Given the description of an element on the screen output the (x, y) to click on. 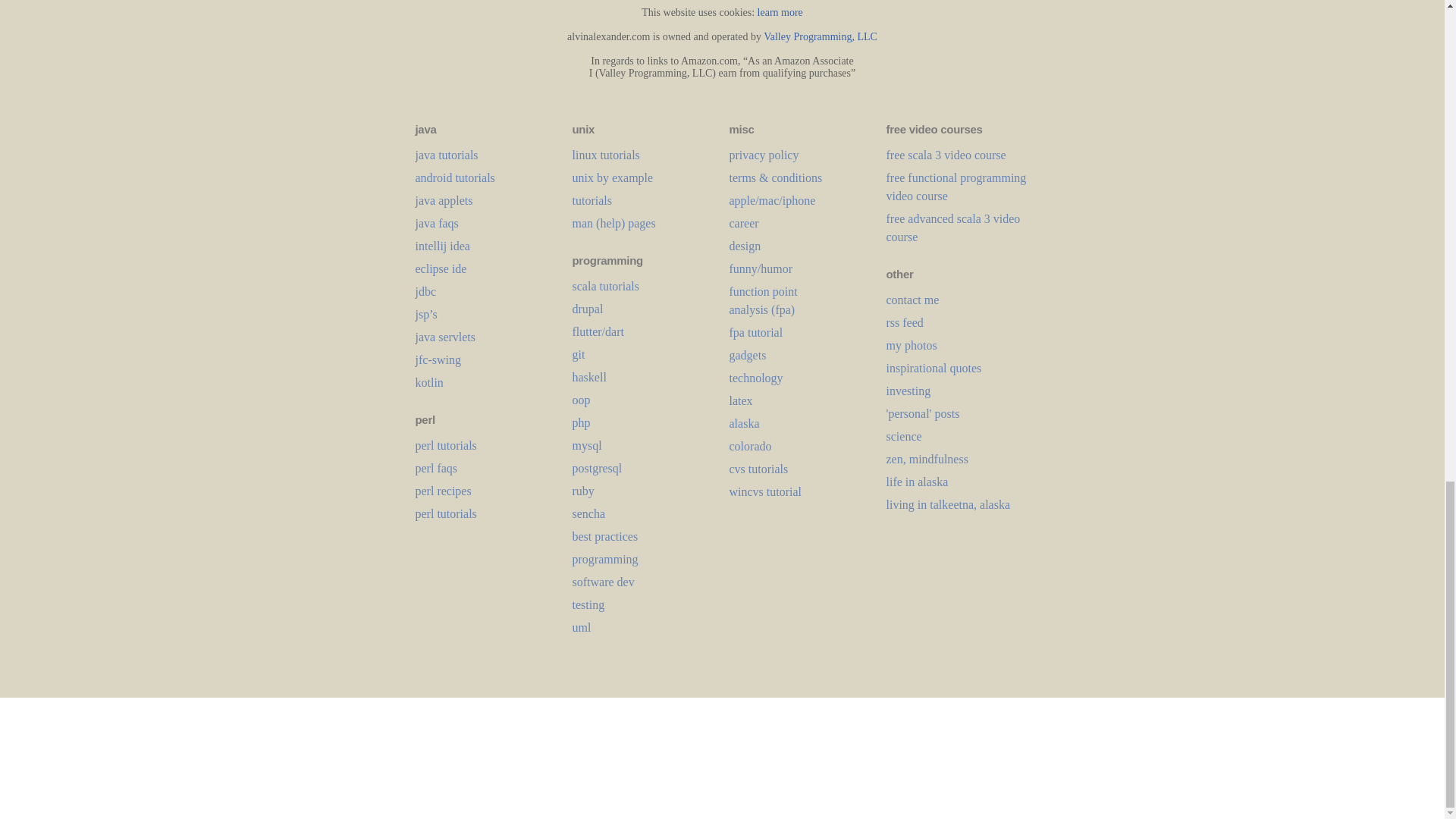
Free Scala 3 online video training course (945, 154)
mobile site (912, 299)
my photo galley (910, 345)
Free Advanced Scala 3 video training course (952, 227)
Free functional programming video training course (955, 186)
a blog about living in alaska (916, 481)
inspirational and motivational quotes (933, 367)
rss feed (904, 322)
